Given the description of an element on the screen output the (x, y) to click on. 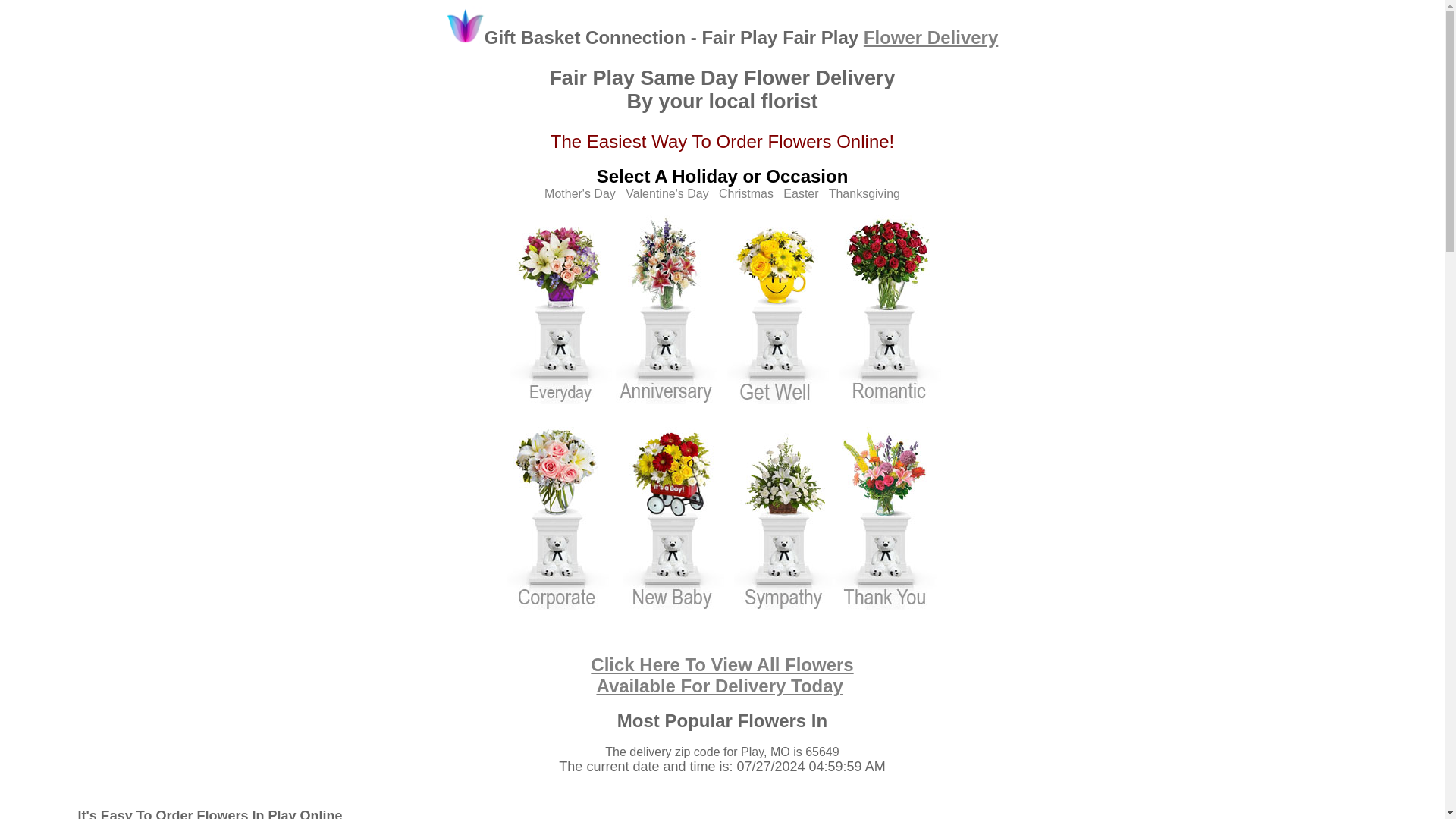
Click Here To View All Flowers (722, 664)
Valentine's Day (666, 193)
Available For Delivery Today (719, 685)
Flower Delivery (930, 37)
Thanksgiving (863, 193)
Easter (800, 193)
Christmas (746, 193)
Mother's Day (579, 193)
